Given the description of an element on the screen output the (x, y) to click on. 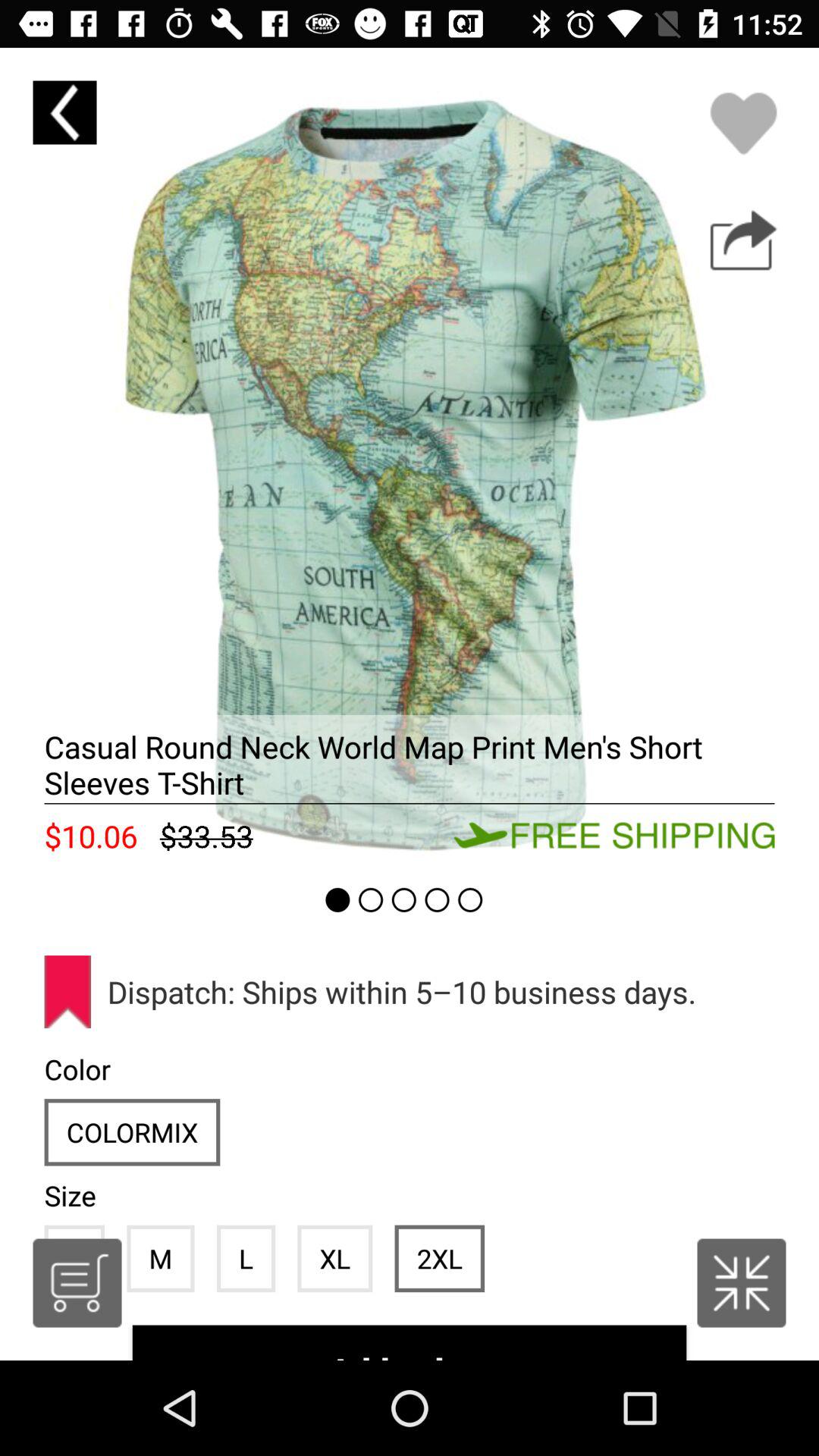
press the item to the right of xl (439, 1258)
